Given the description of an element on the screen output the (x, y) to click on. 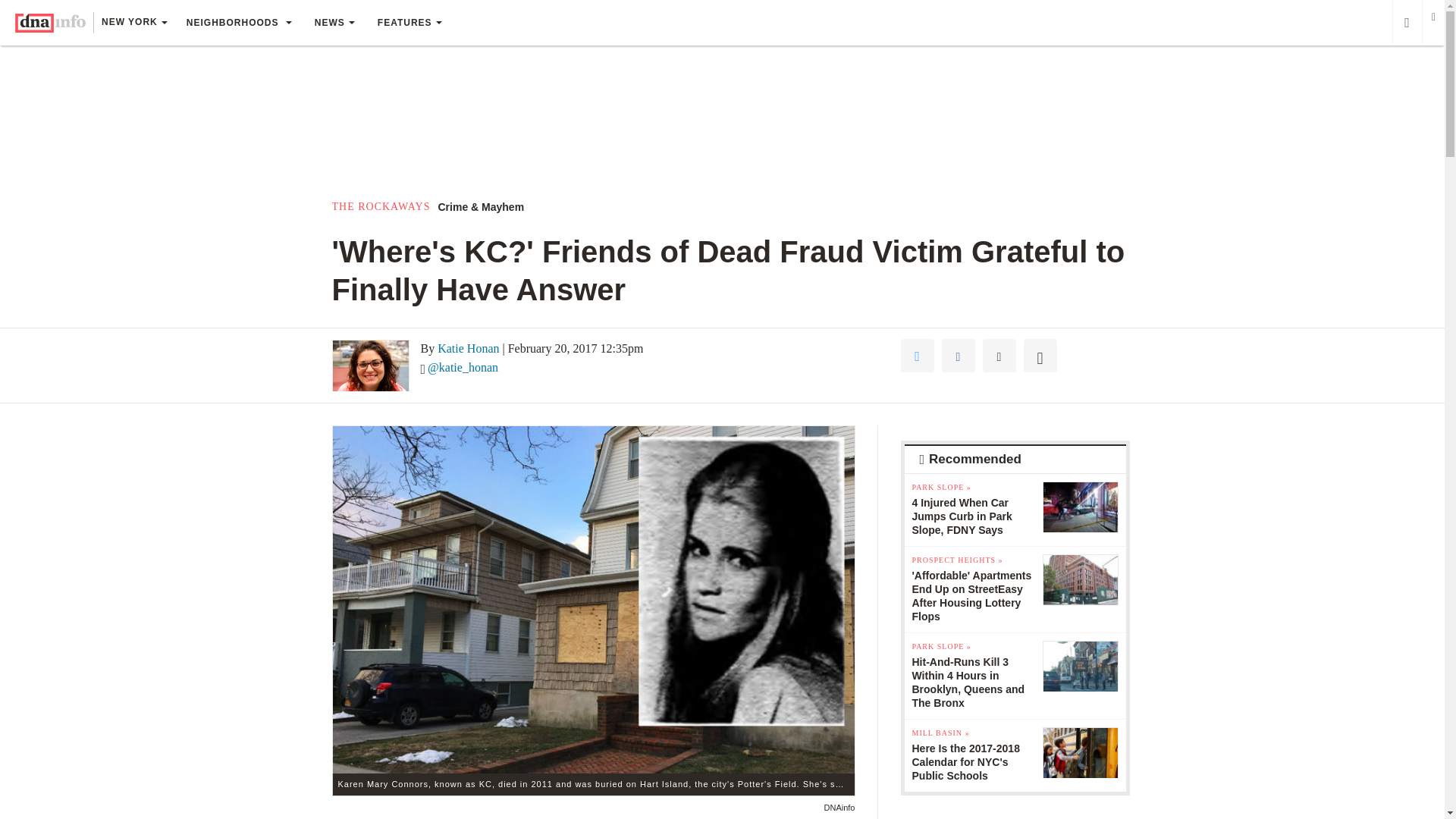
NEWS (334, 22)
NEW YORK (133, 23)
New York - Home (49, 22)
NEIGHBORHOODS (238, 22)
